Given the description of an element on the screen output the (x, y) to click on. 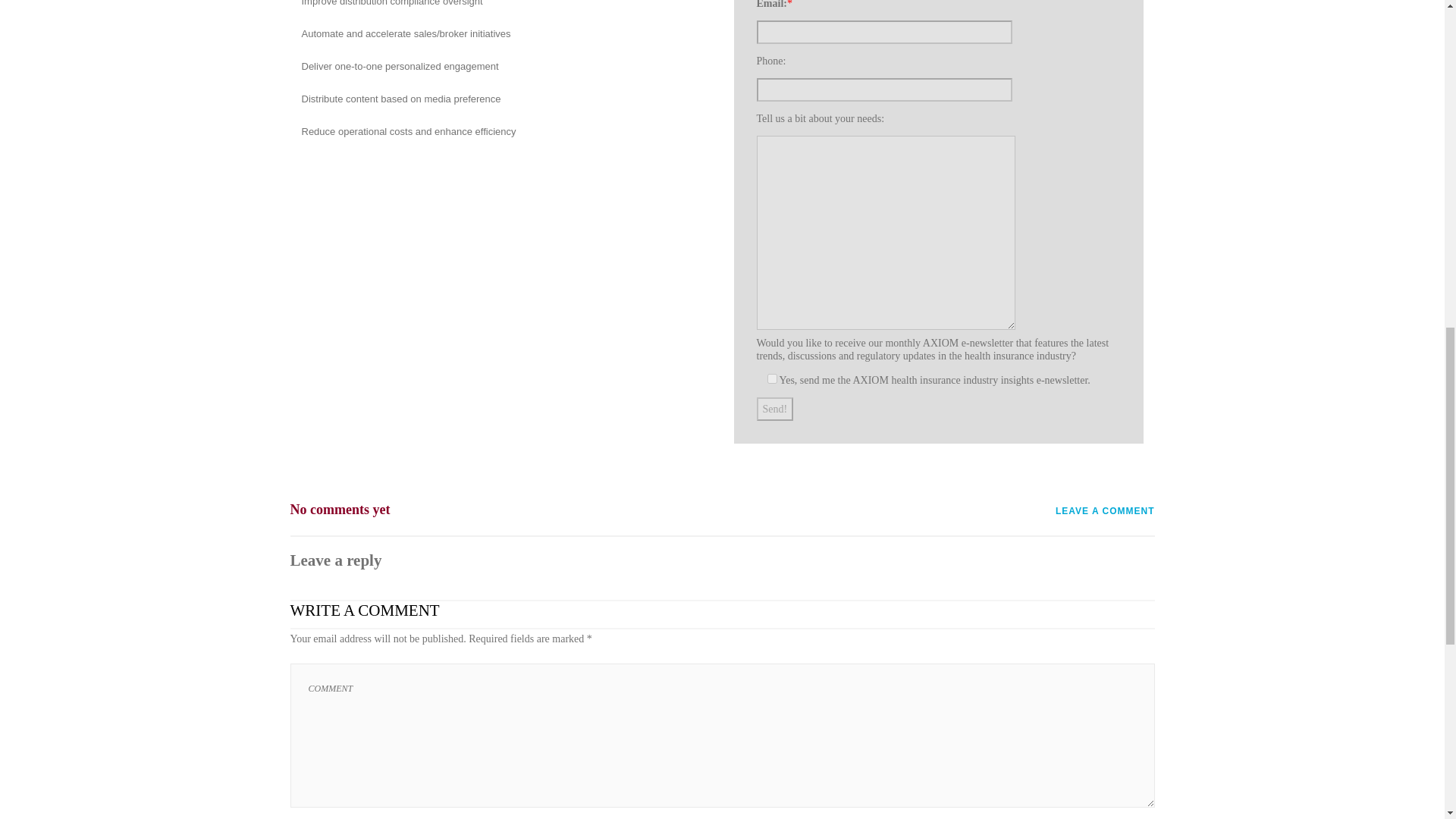
Send! (775, 408)
No comments yet (339, 502)
Send! (775, 408)
